Given the description of an element on the screen output the (x, y) to click on. 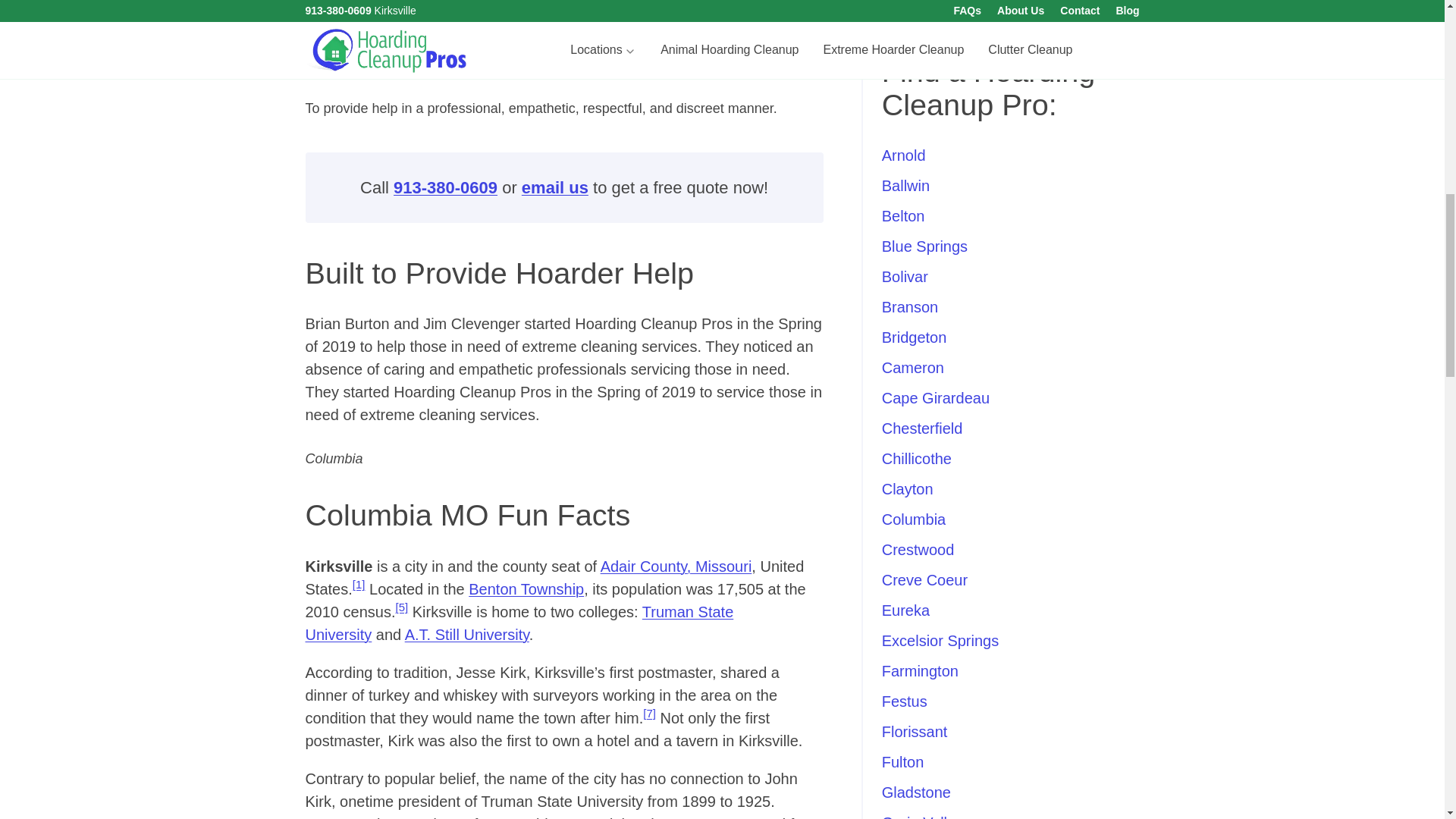
Adair County, Missouri (675, 565)
email us (554, 187)
913-380-0609 (445, 187)
